Given the description of an element on the screen output the (x, y) to click on. 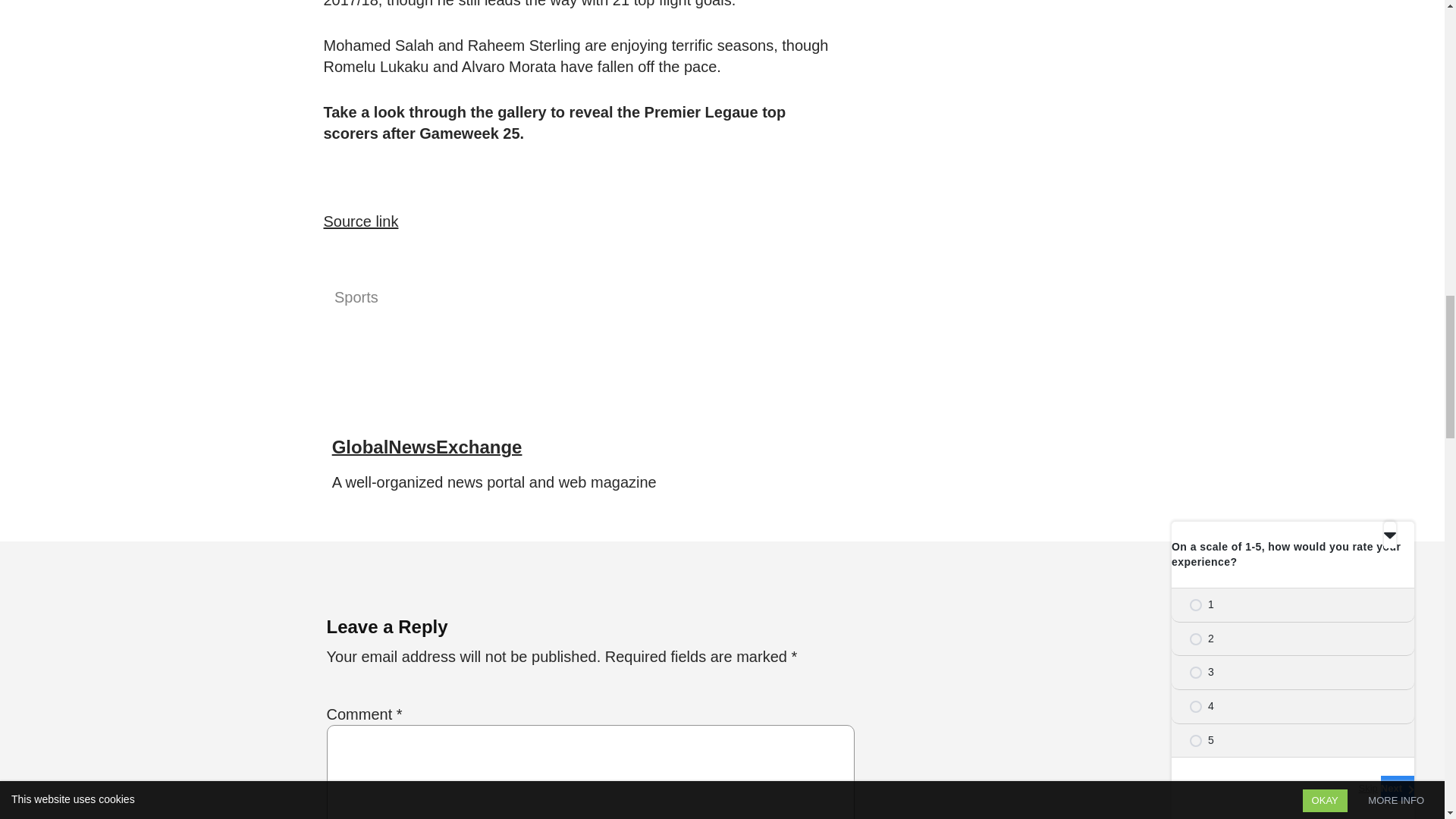
GlobalNewsExchange (426, 446)
Source link (360, 221)
Sports (356, 297)
